Given the description of an element on the screen output the (x, y) to click on. 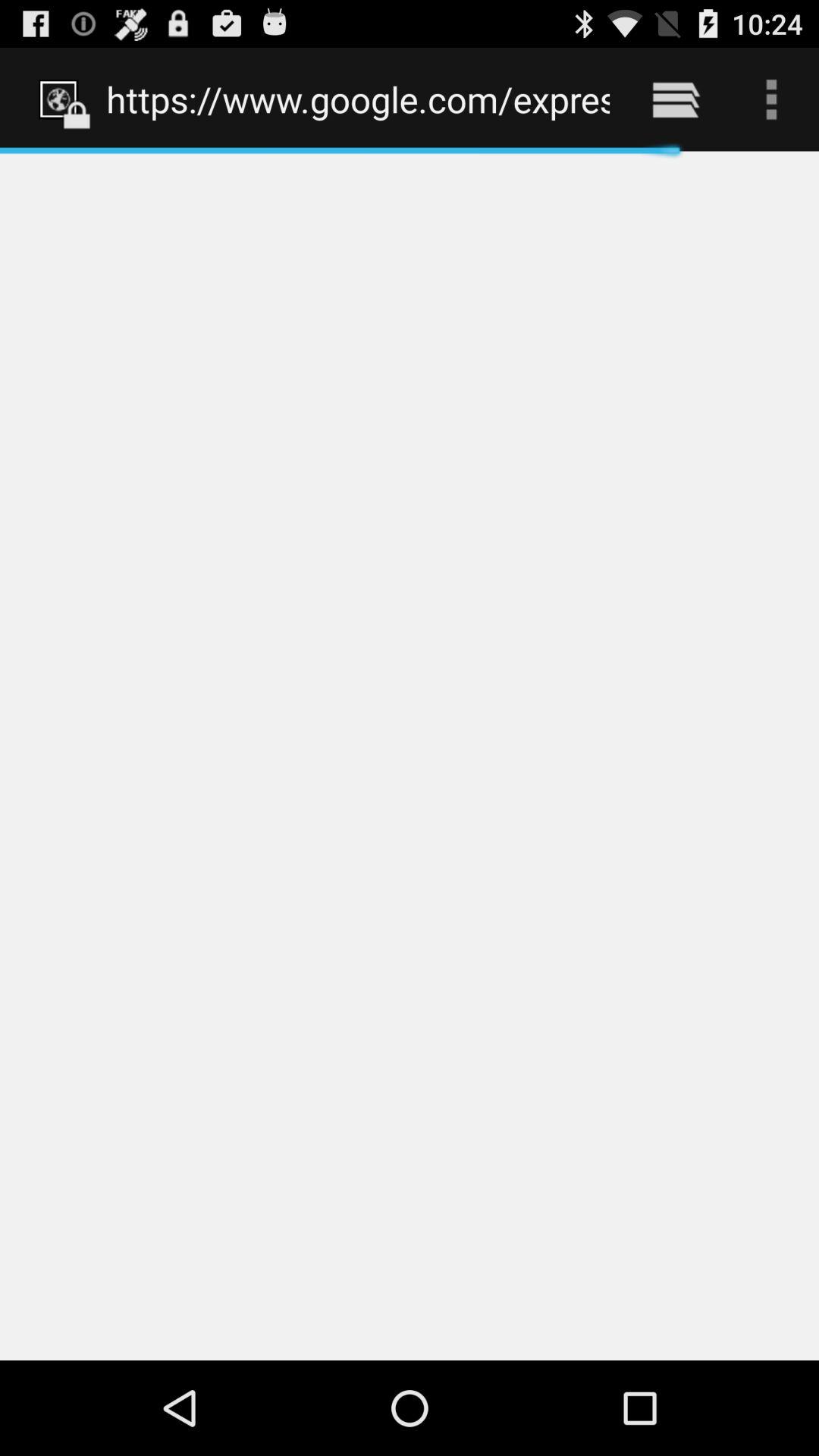
tap the https www google (357, 99)
